Given the description of an element on the screen output the (x, y) to click on. 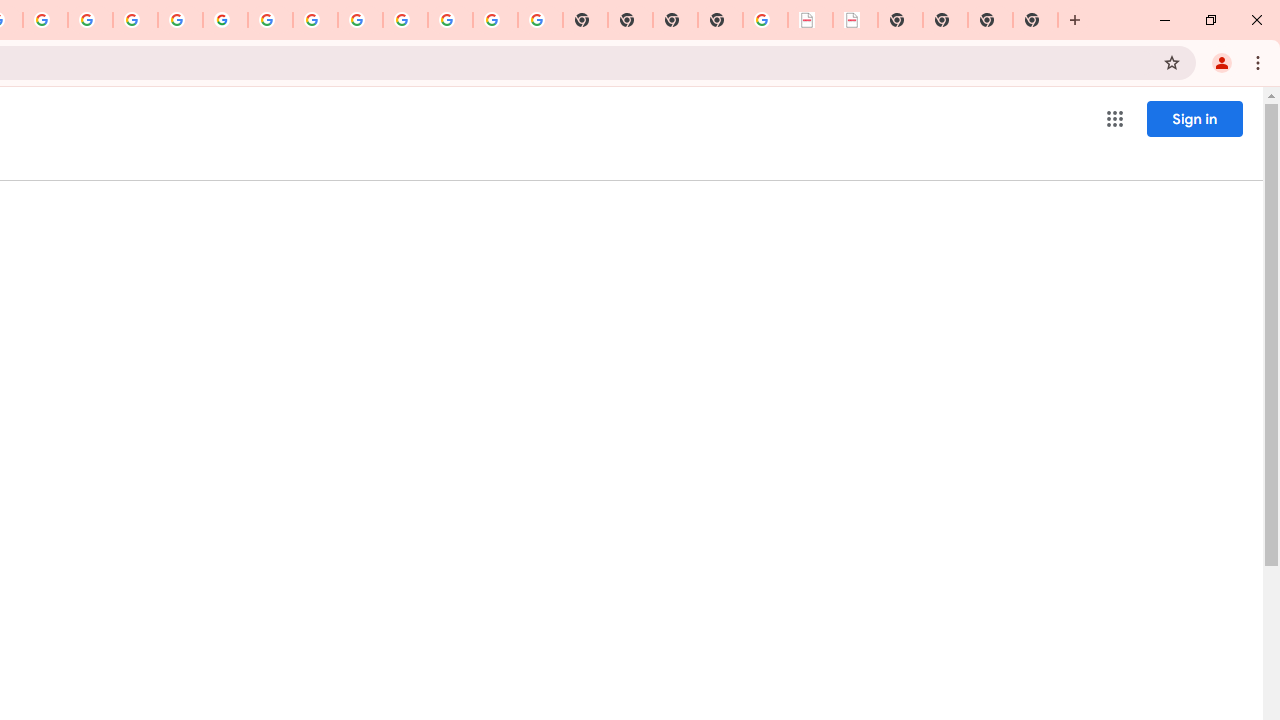
New Tab (720, 20)
Google Images (540, 20)
Privacy Help Center - Policies Help (89, 20)
Privacy Help Center - Policies Help (134, 20)
